Given the description of an element on the screen output the (x, y) to click on. 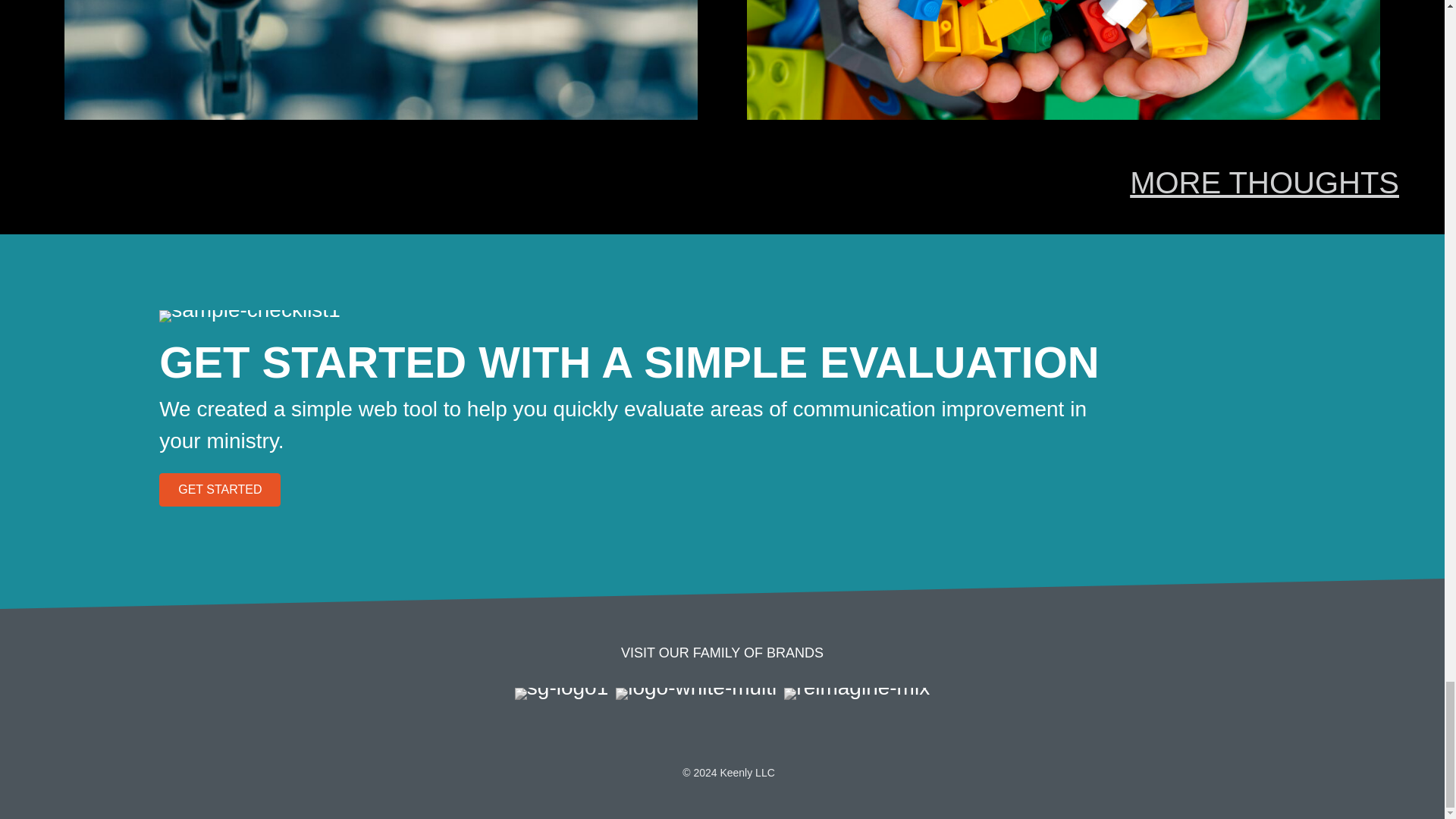
MORE THOUGHTS (1264, 182)
sg-logo1 (561, 693)
GET STARTED (219, 489)
More Thoughts (1264, 182)
sample-checklist1 (249, 316)
logo-white-multi (695, 693)
reimagine-mix (857, 693)
